Given the description of an element on the screen output the (x, y) to click on. 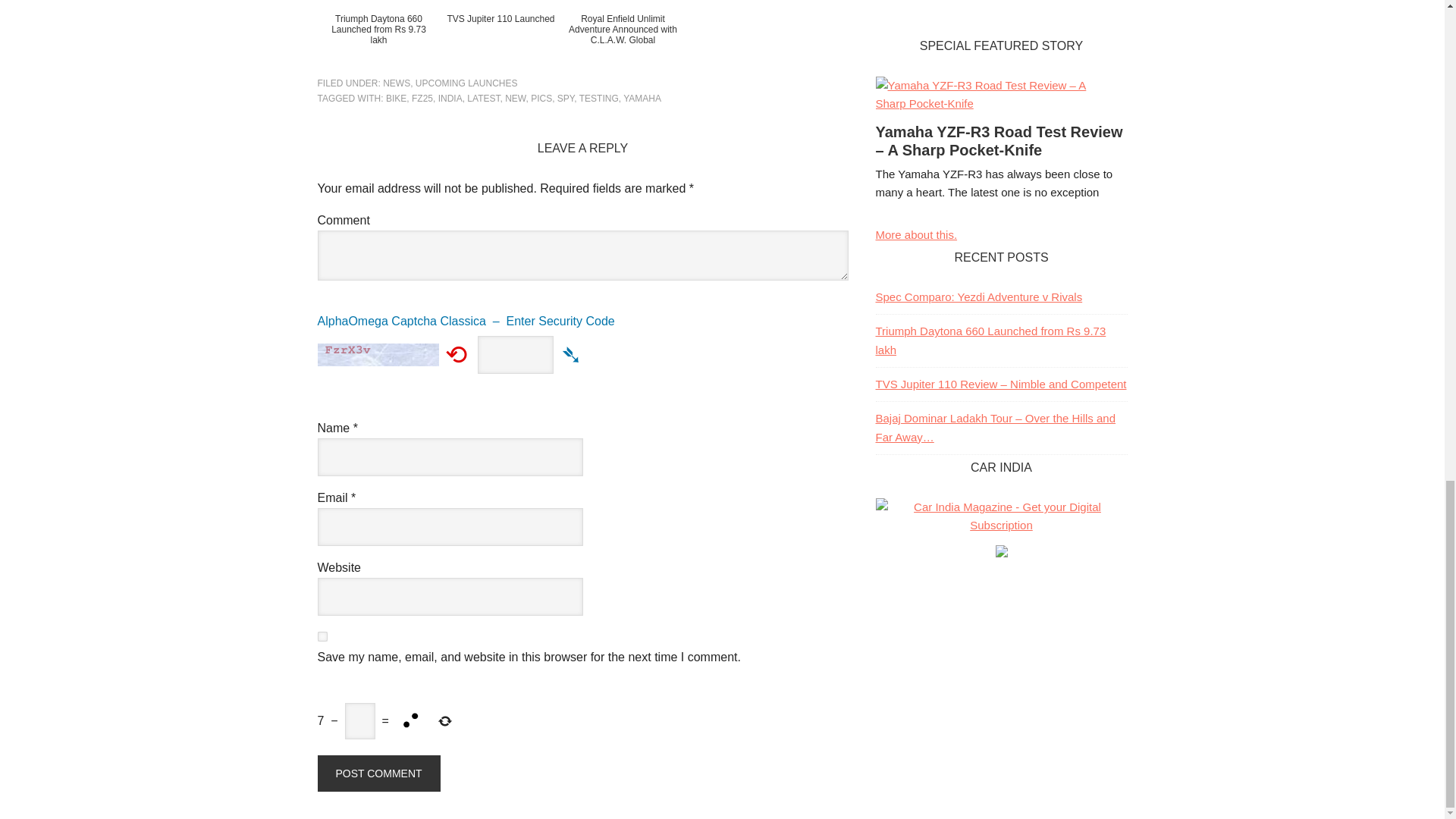
Triumph Daytona 660 Launched from Rs 9.73 lakh (378, 36)
 Checkout the AlphaOmega Captcha Plugin at WordPress.org  (571, 353)
LATEST (483, 98)
BIKE (395, 98)
yes (321, 636)
FZ25 (422, 98)
INDIA (450, 98)
 Reload AlphaOmega Captcha  (456, 353)
NEW (515, 98)
